Given the description of an element on the screen output the (x, y) to click on. 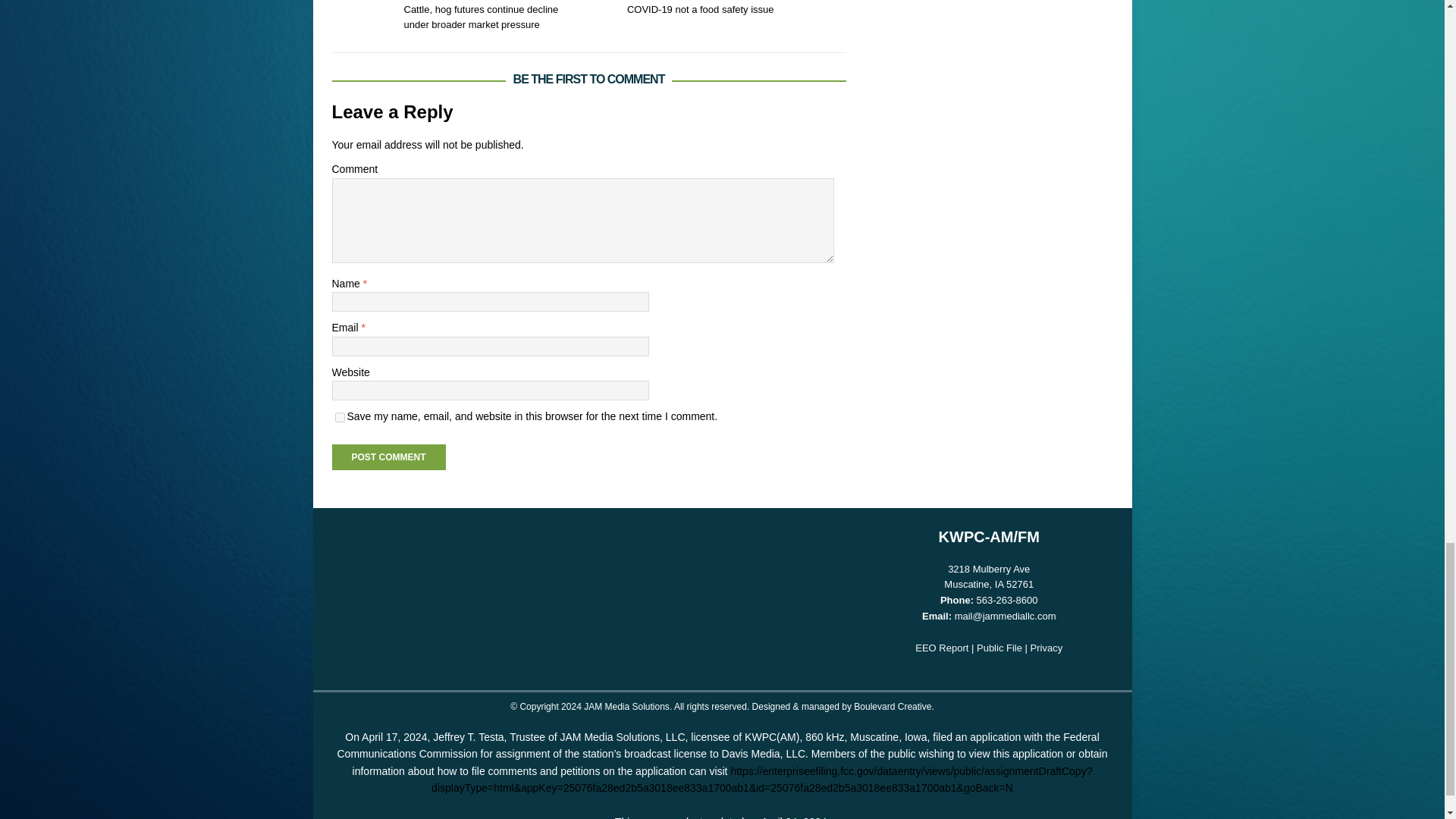
Post Comment (388, 457)
yes (339, 417)
